Given the description of an element on the screen output the (x, y) to click on. 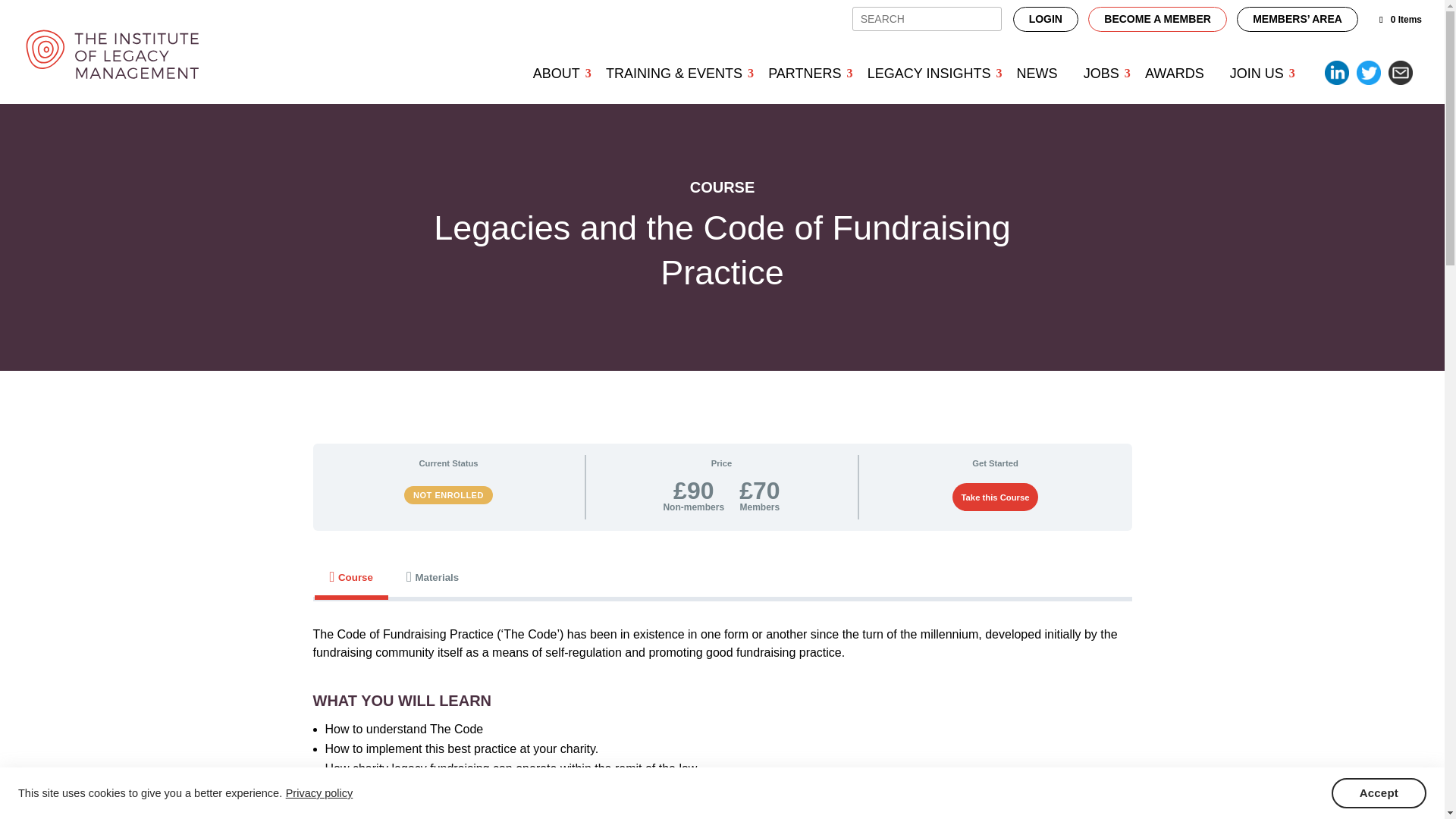
0 Items (1399, 19)
JOIN US (1256, 72)
NEWS (1037, 72)
BECOME A MEMBER (1157, 19)
LEGACY INSIGHTS (929, 72)
PARTNERS (804, 72)
AWARDS (1174, 72)
ABOUT (556, 72)
JOBS (1101, 72)
LOGIN (1045, 19)
